Given the description of an element on the screen output the (x, y) to click on. 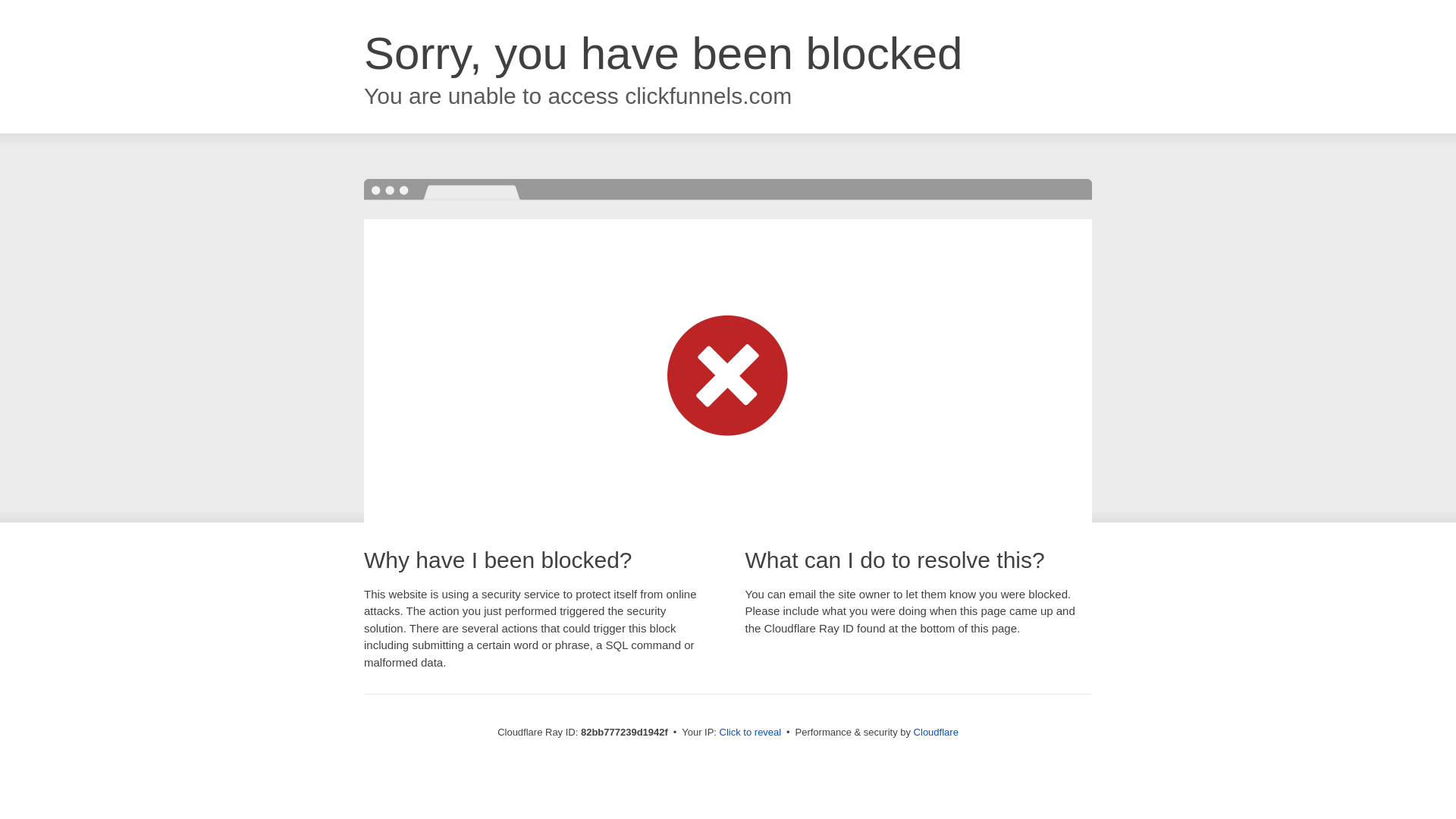
Click to reveal Element type: text (750, 732)
Cloudflare Element type: text (935, 731)
